Given the description of an element on the screen output the (x, y) to click on. 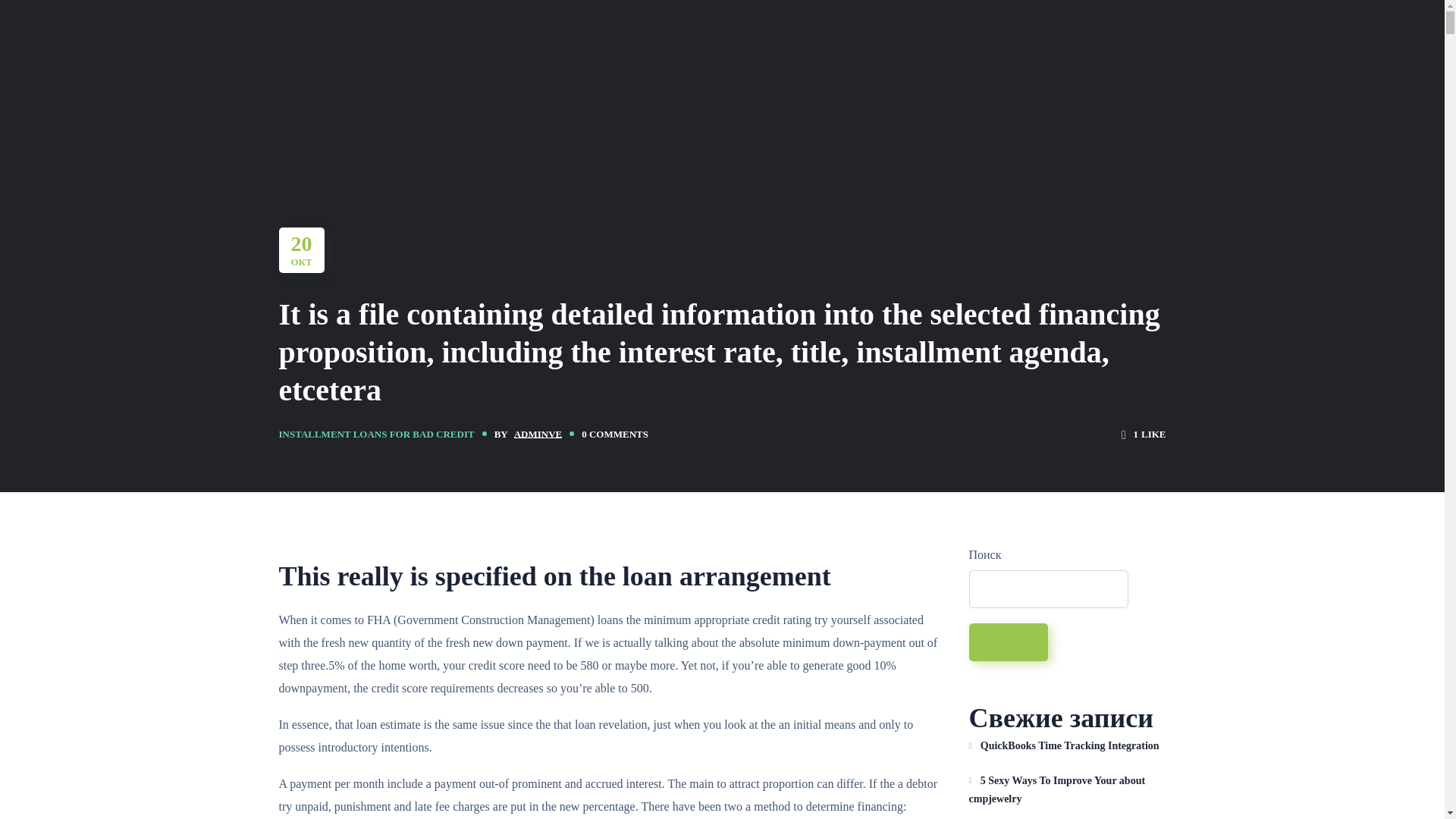
ADMINVE (537, 433)
INSTALLMENT LOANS FOR BAD CREDIT (376, 433)
QuickBooks Time Tracking Integration (1067, 746)
5 Sexy Ways To Improve Your about cmpjewelry (1067, 790)
1 LIKE (1143, 433)
Leave a reply (613, 434)
Like (1143, 433)
0 COMMENTS (613, 434)
